Given the description of an element on the screen output the (x, y) to click on. 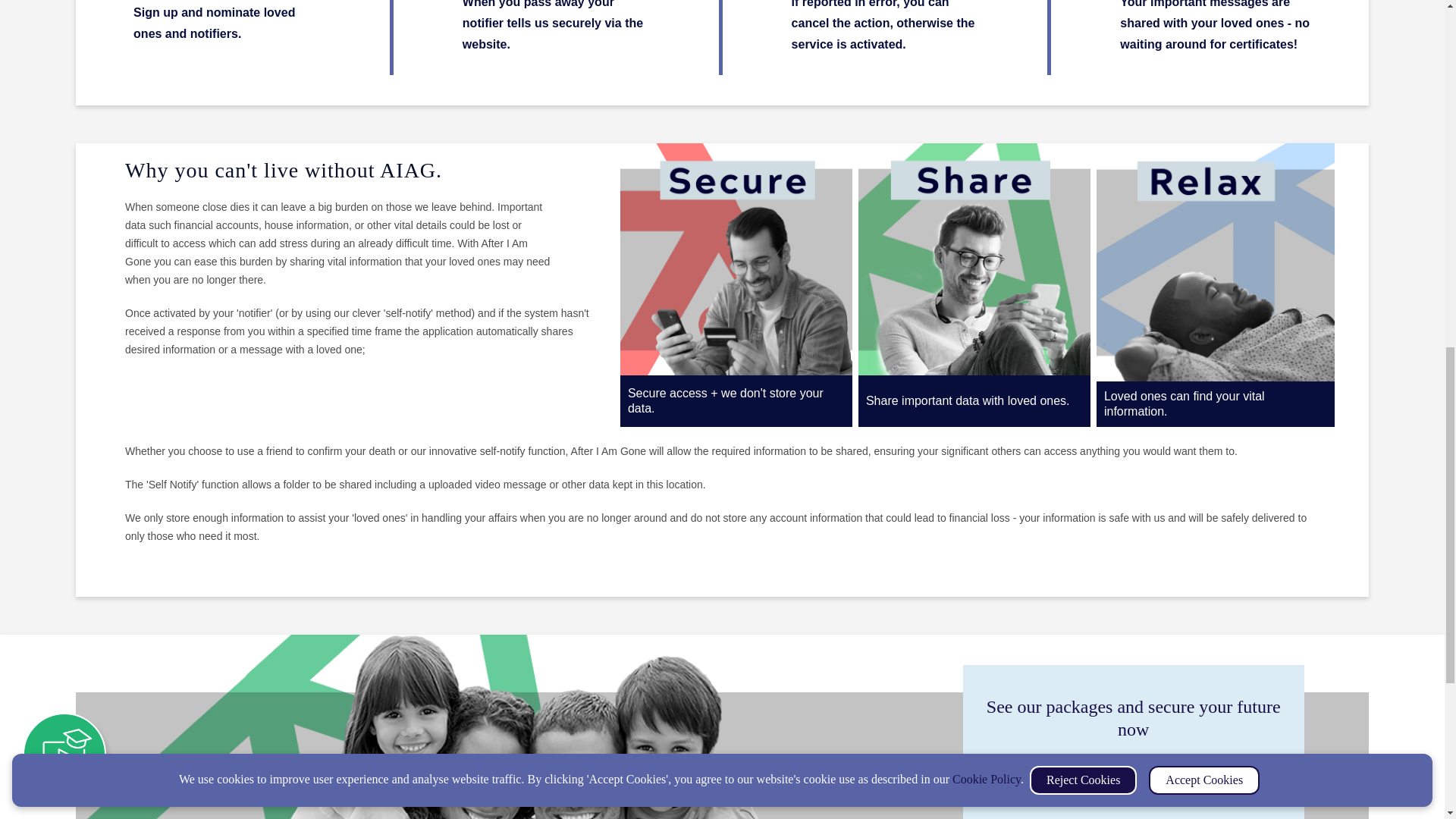
View Packages (1133, 777)
